Given the description of an element on the screen output the (x, y) to click on. 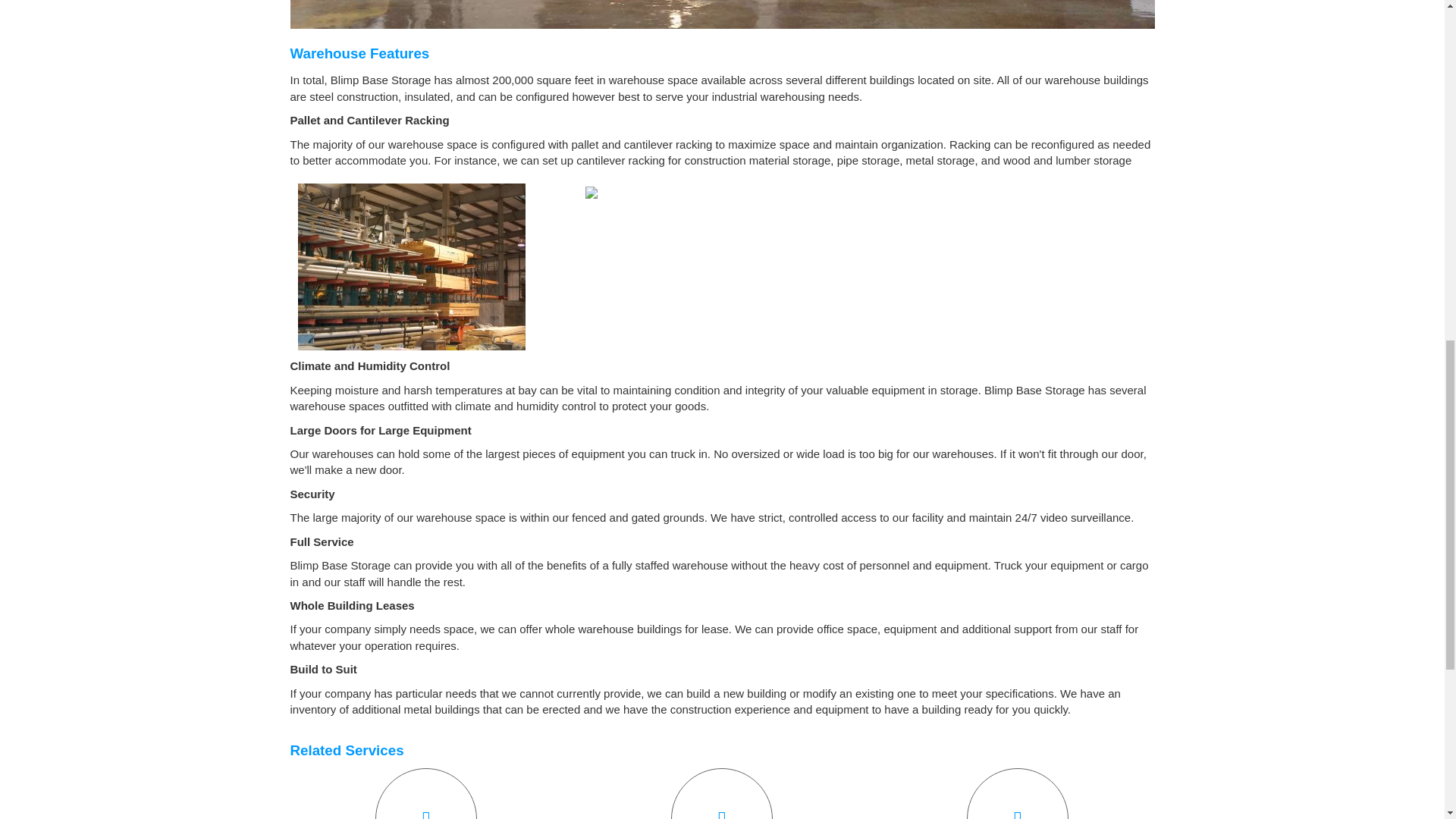
Inventory Control (722, 793)
Material Handling (425, 793)
